Given the description of an element on the screen output the (x, y) to click on. 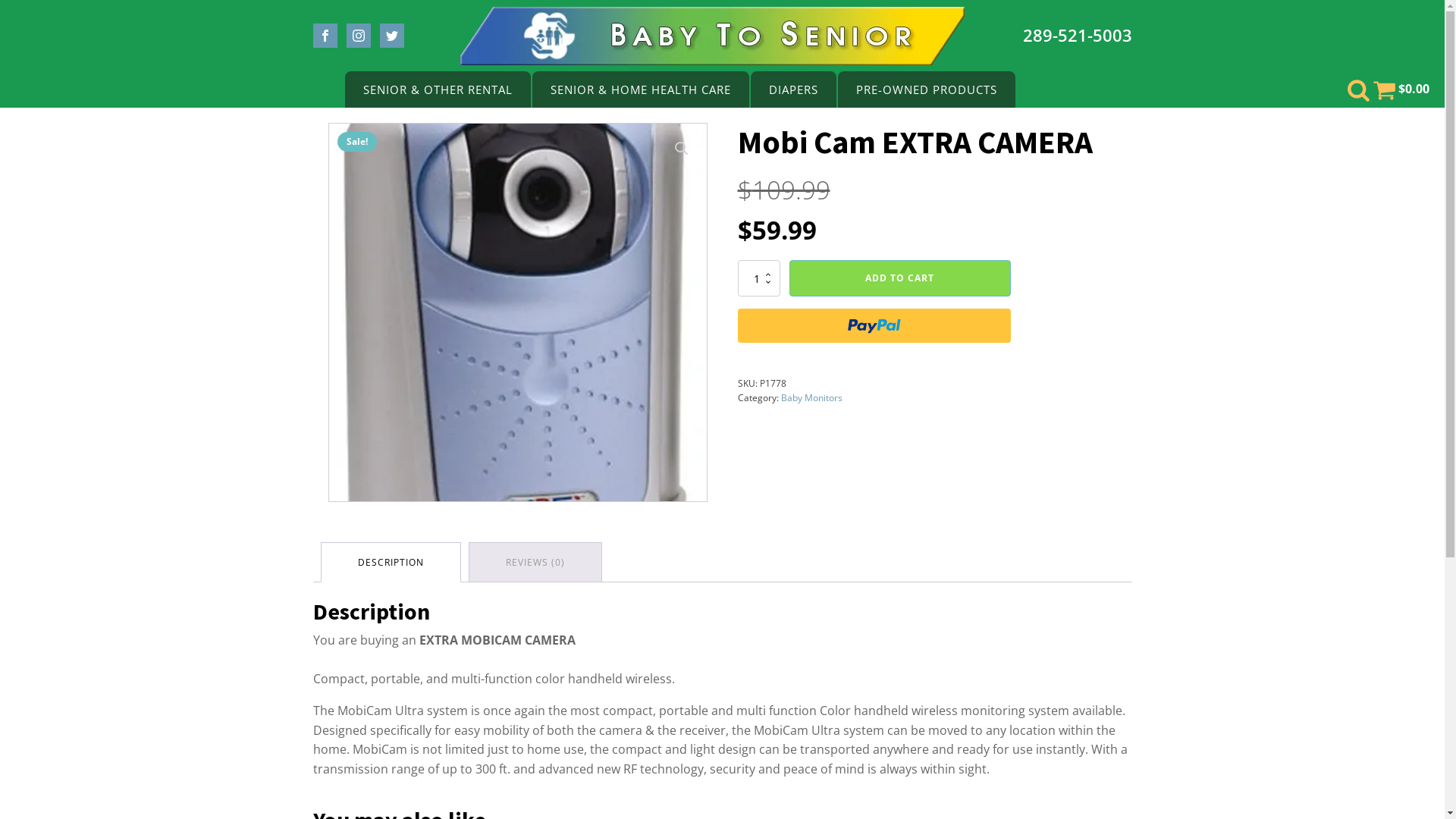
REVIEWS (0) Element type: text (534, 561)
PayPal Element type: hover (873, 325)
SENIOR & HOME HEALTH CARE Element type: text (640, 89)
SENIOR & OTHER RENTAL Element type: text (437, 89)
DIAPERS Element type: text (793, 89)
PRE-OWNED PRODUCTS Element type: text (926, 89)
DESCRIPTION Element type: text (390, 561)
Mobi Cam EXTRA CAMERA Element type: hover (517, 312)
Baby Monitors Element type: text (811, 397)
ADD TO CART Element type: text (899, 278)
